Given the description of an element on the screen output the (x, y) to click on. 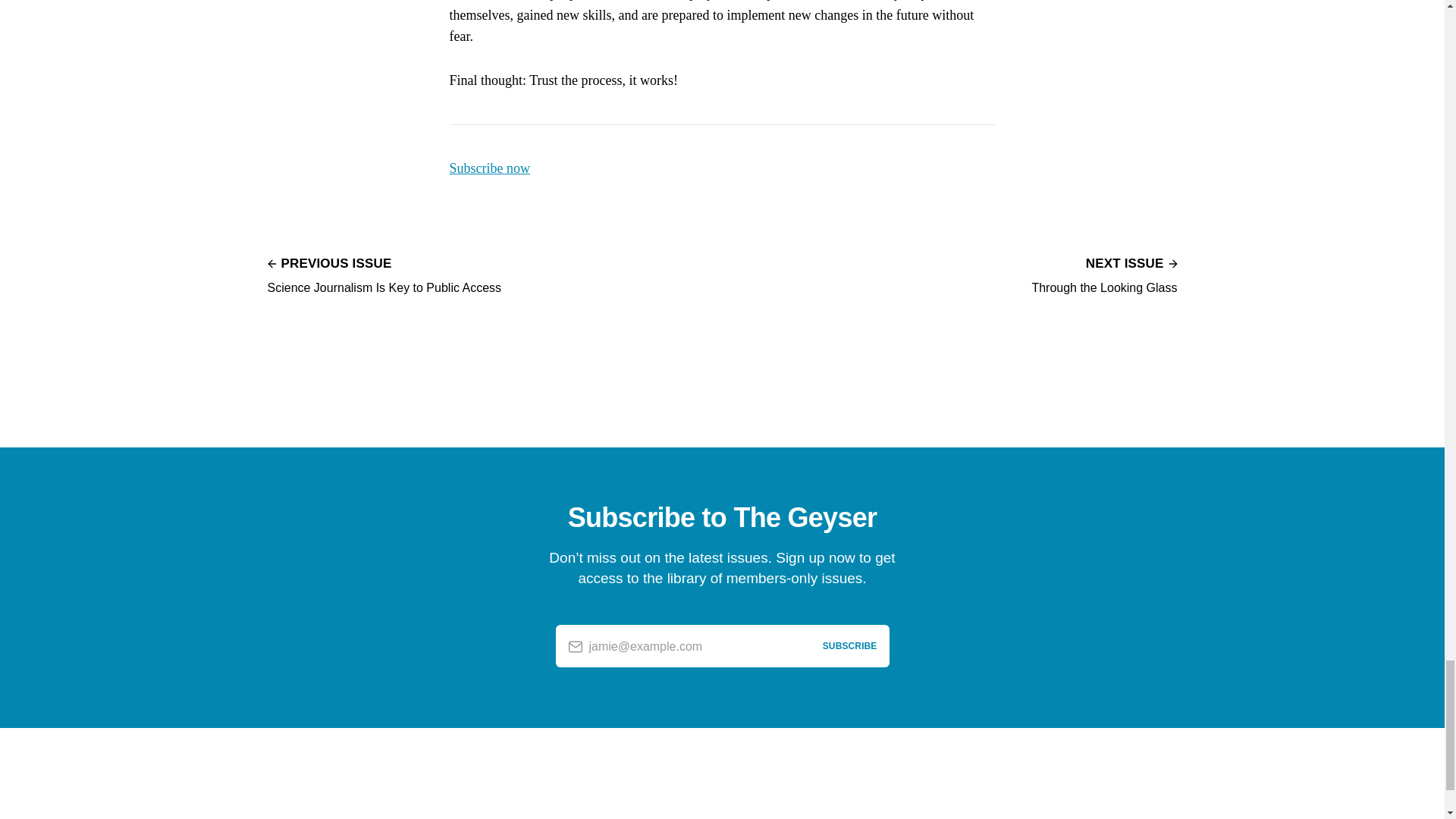
Subscribe now (488, 168)
